Given the description of an element on the screen output the (x, y) to click on. 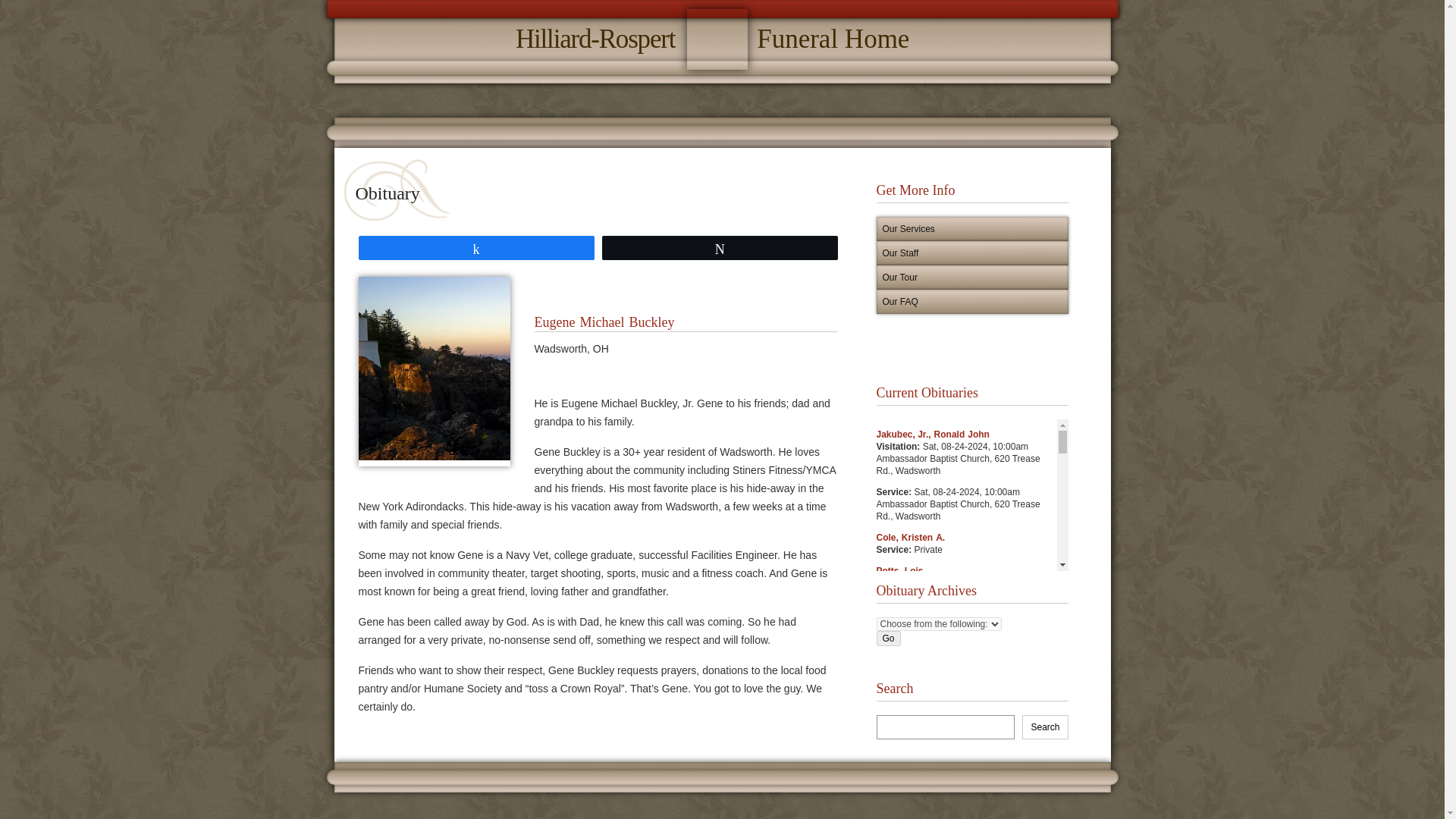
Our Tour (972, 277)
Our FAQ (972, 301)
Our Staff (721, 39)
Our Services (972, 252)
Go (972, 228)
